Given the description of an element on the screen output the (x, y) to click on. 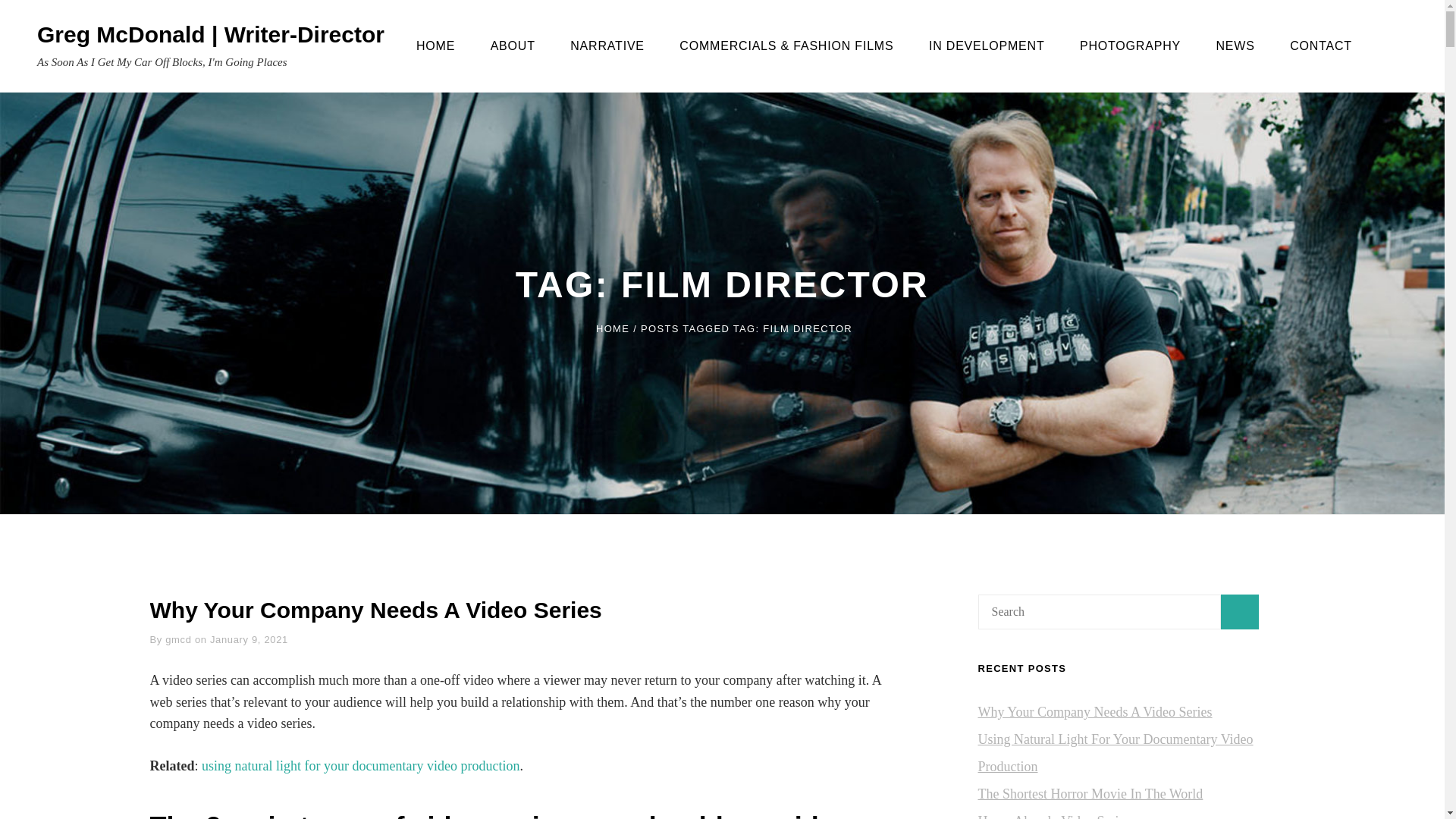
January 9, 2021 (248, 639)
Why Your Company Needs A Video Series (375, 609)
NARRATIVE (607, 46)
ABOUT (512, 46)
CONTACT (1321, 46)
HOME (611, 328)
IN DEVELOPMENT (986, 46)
using natural light for your documentary video production (360, 765)
NEWS (1234, 46)
gmcd (177, 639)
SEARCH (1400, 45)
PHOTOGRAPHY (1130, 46)
HOME (435, 46)
